Given the description of an element on the screen output the (x, y) to click on. 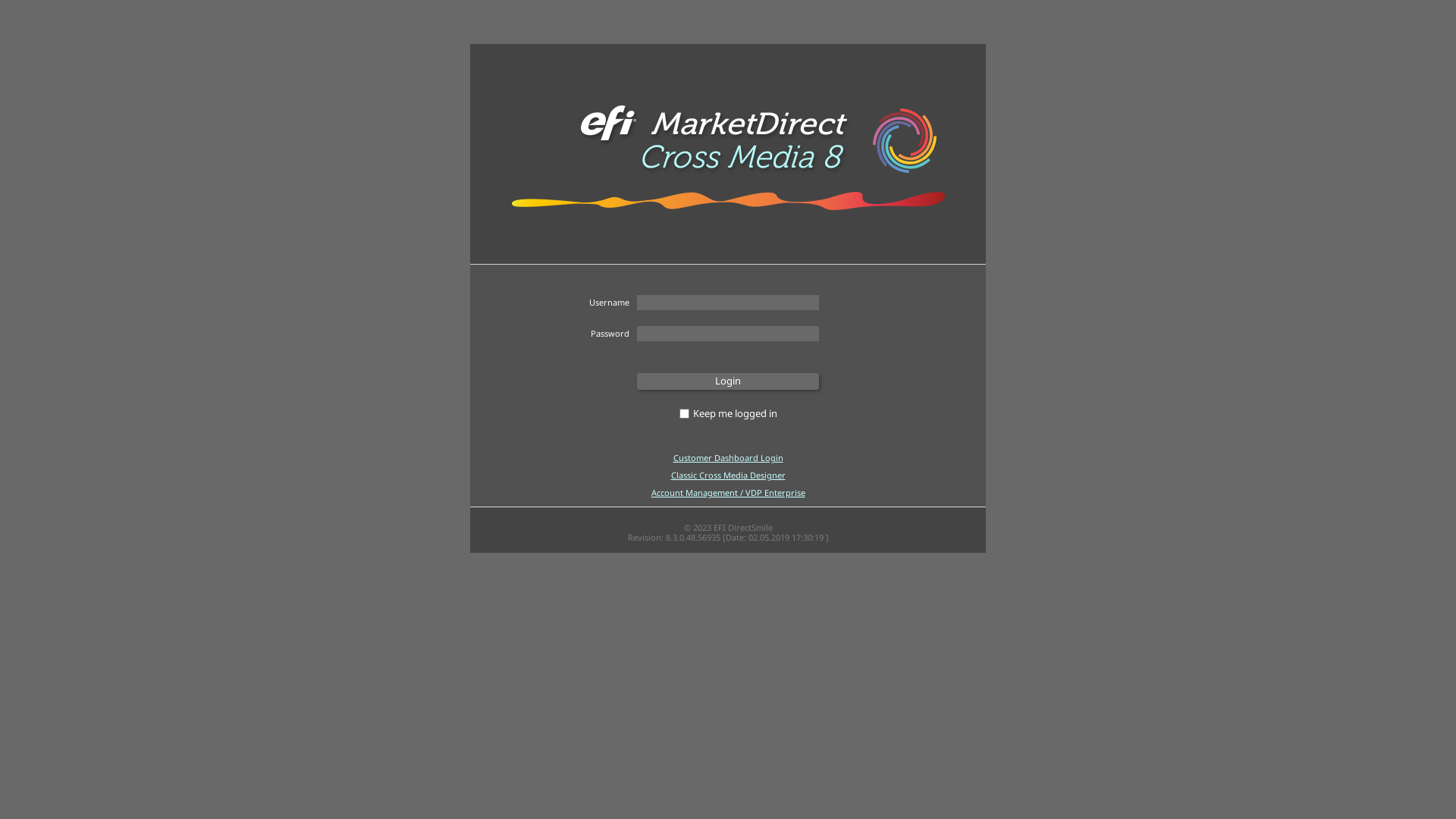
Customer Dashboard Login Element type: text (728, 457)
Account Management / VDP Enterprise Element type: text (727, 492)
Classic Cross Media Designer Element type: text (727, 474)
